Given the description of an element on the screen output the (x, y) to click on. 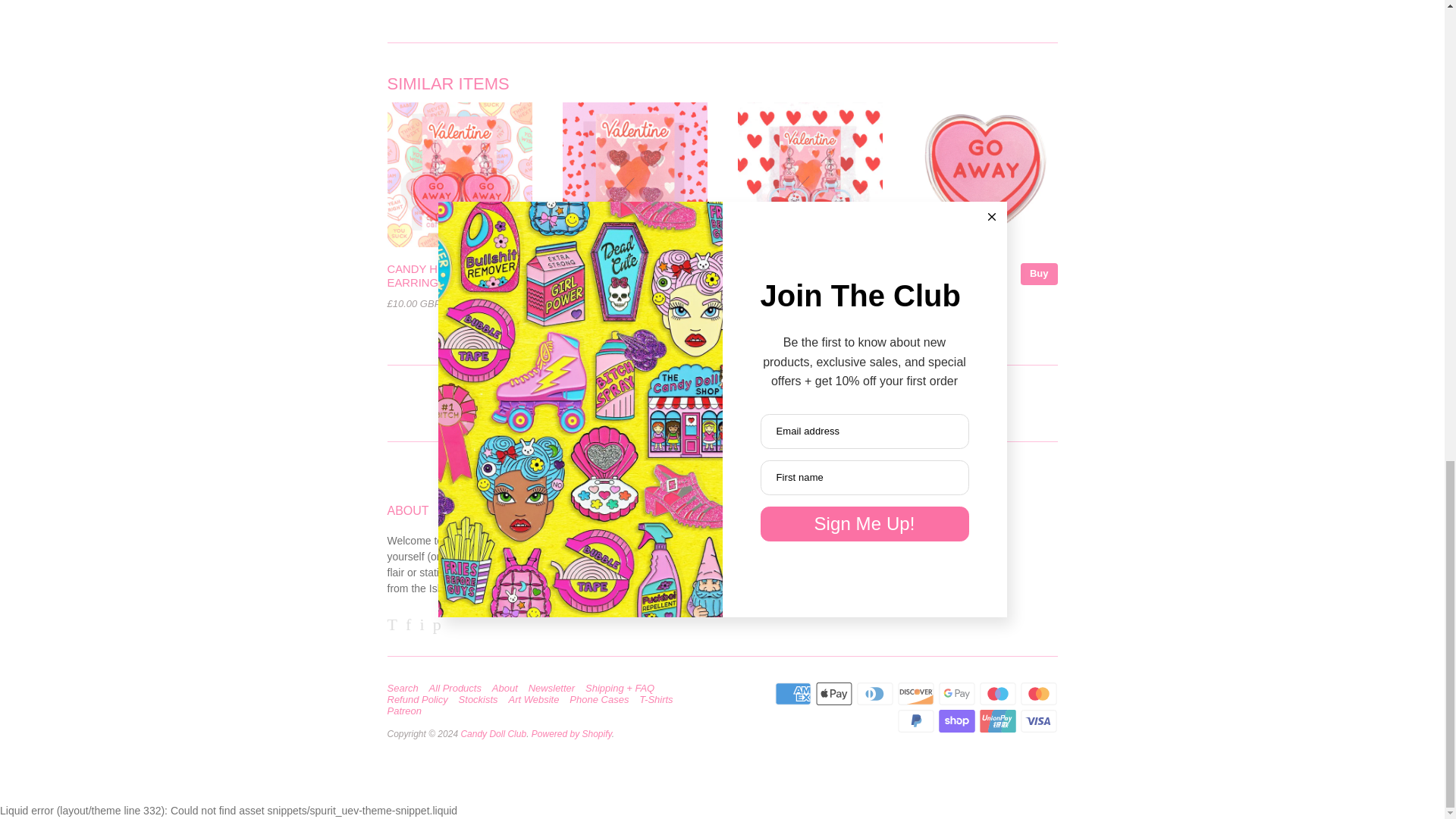
Search (406, 688)
Phone Cases (602, 699)
Stockists (481, 699)
T-Shirts (659, 699)
Art Website (537, 699)
All Products (459, 688)
Refund Policy (420, 699)
About (508, 688)
Patreon (408, 710)
Newsletter (555, 688)
